Given the description of an element on the screen output the (x, y) to click on. 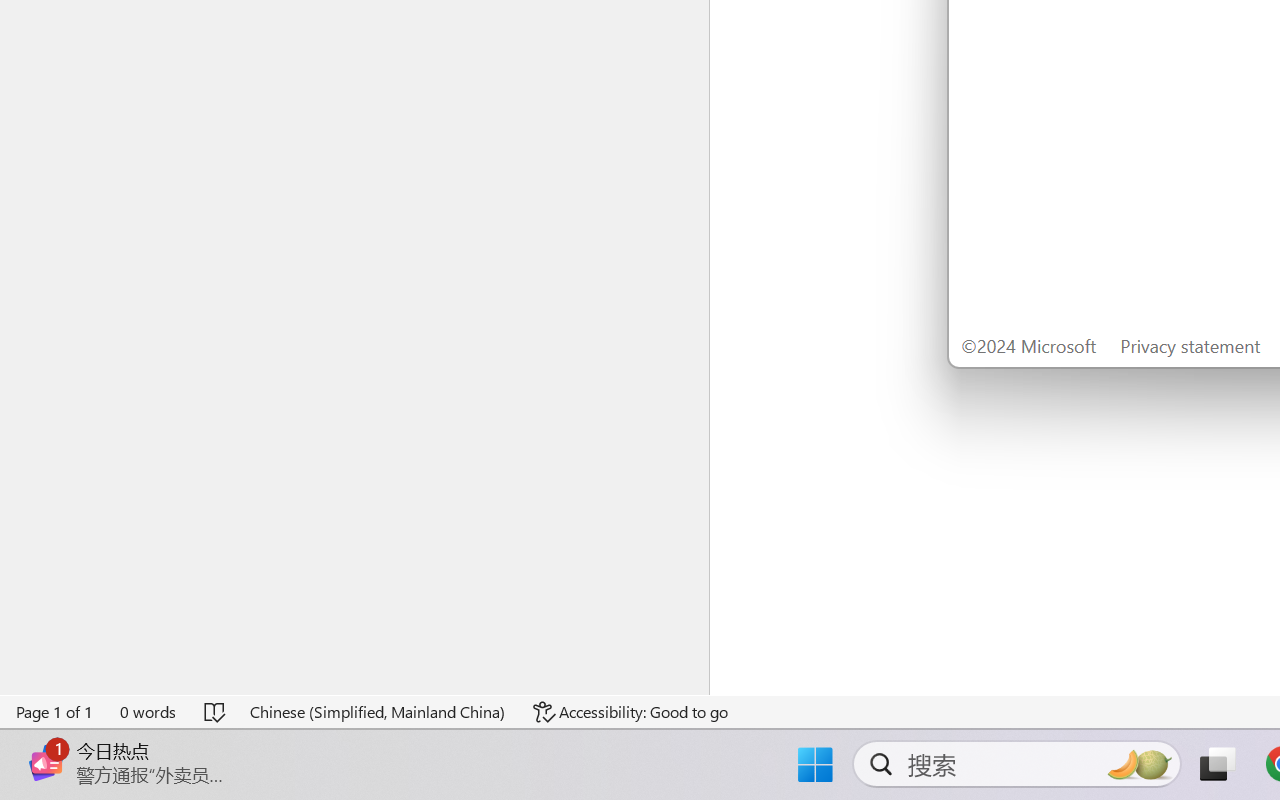
Language Chinese (Simplified, Mainland China) (378, 712)
